Given the description of an element on the screen output the (x, y) to click on. 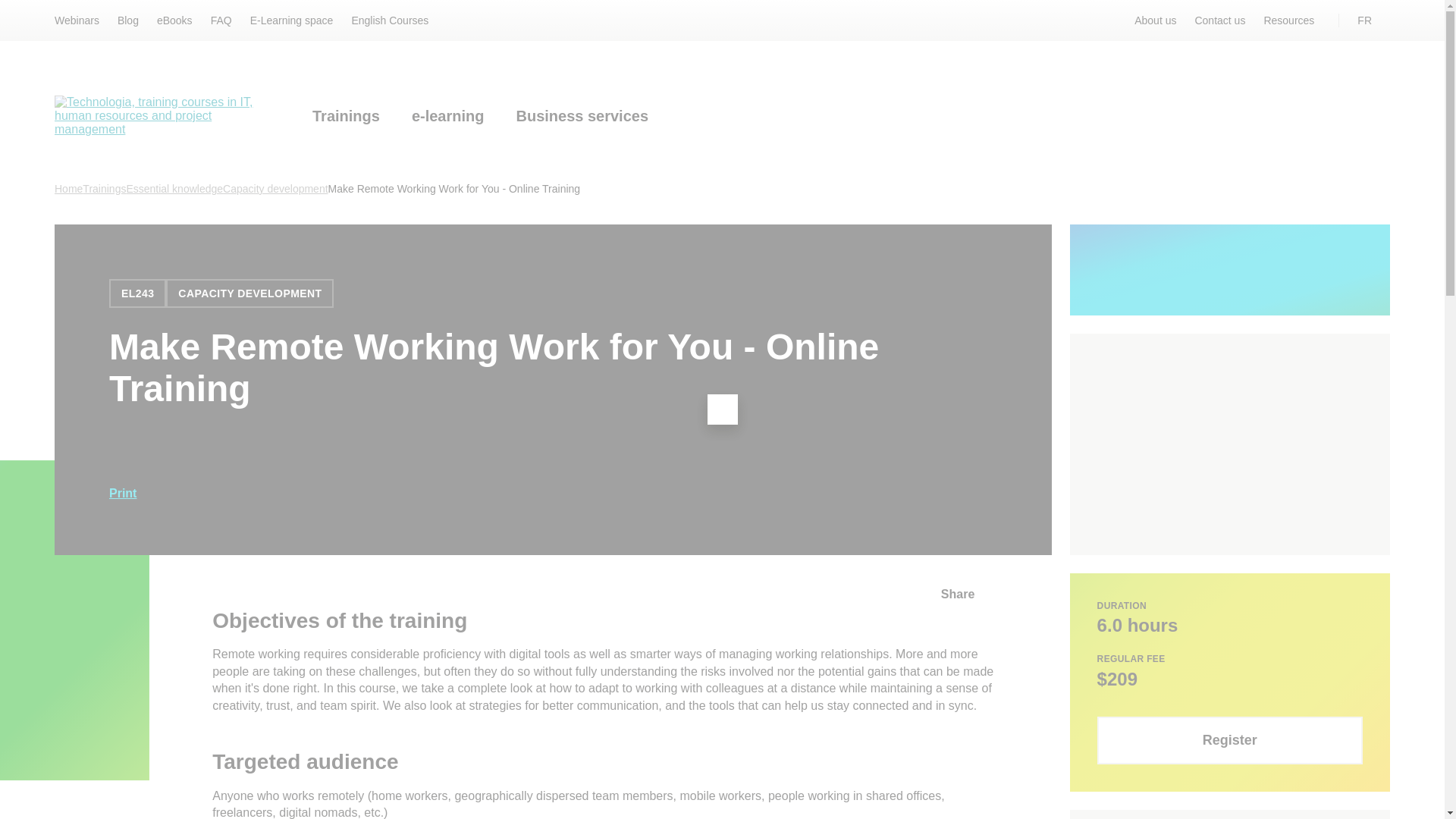
Blog (127, 20)
Resources (1288, 20)
English Courses (389, 20)
eBooks (174, 20)
Contact us (1218, 20)
About us (1155, 20)
Webinars (77, 20)
Trainings (346, 117)
FAQ (221, 20)
E-Learning space (291, 20)
